Given the description of an element on the screen output the (x, y) to click on. 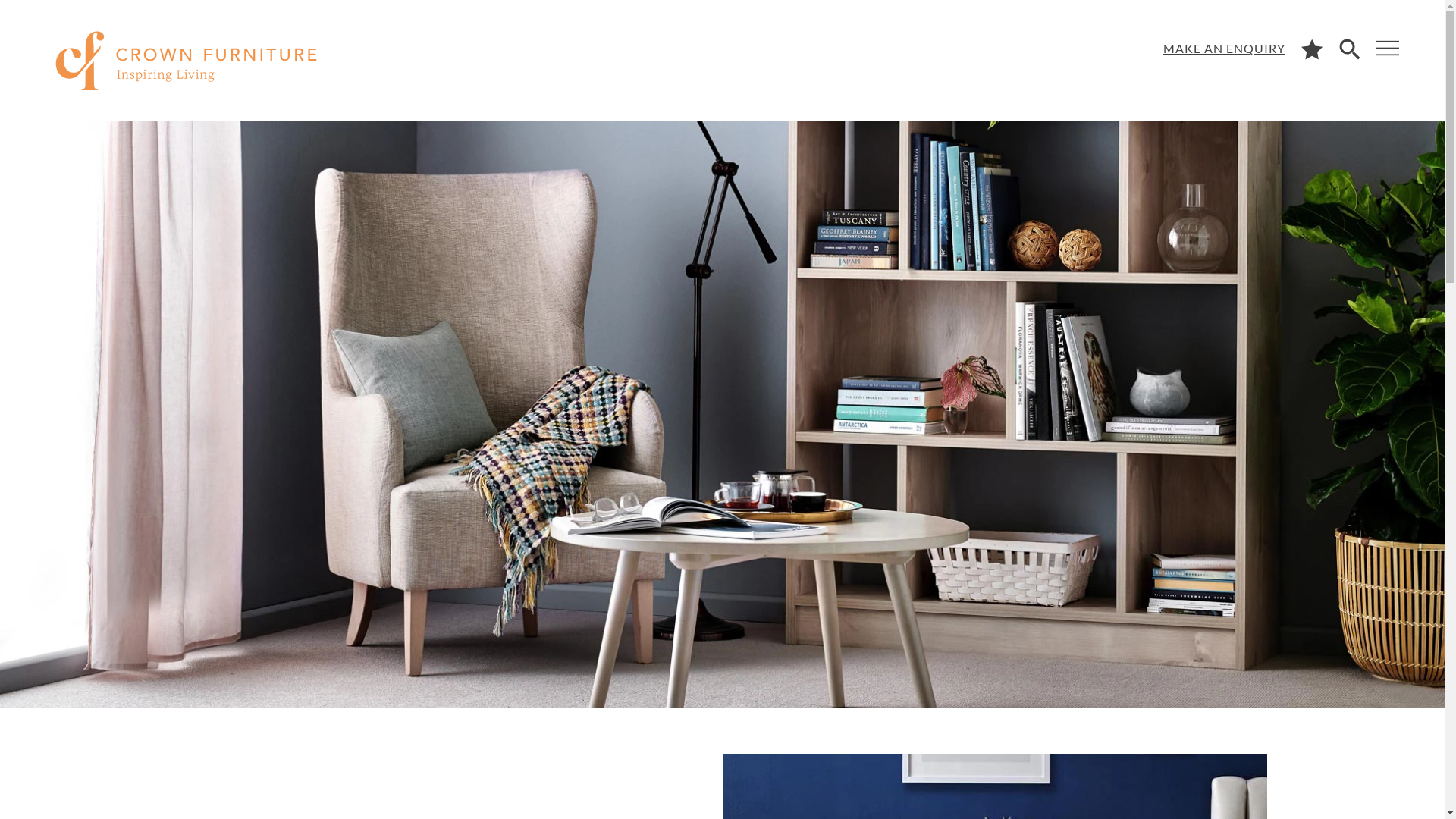
MAKE AN ENQUIRY Element type: text (1224, 47)
